Given the description of an element on the screen output the (x, y) to click on. 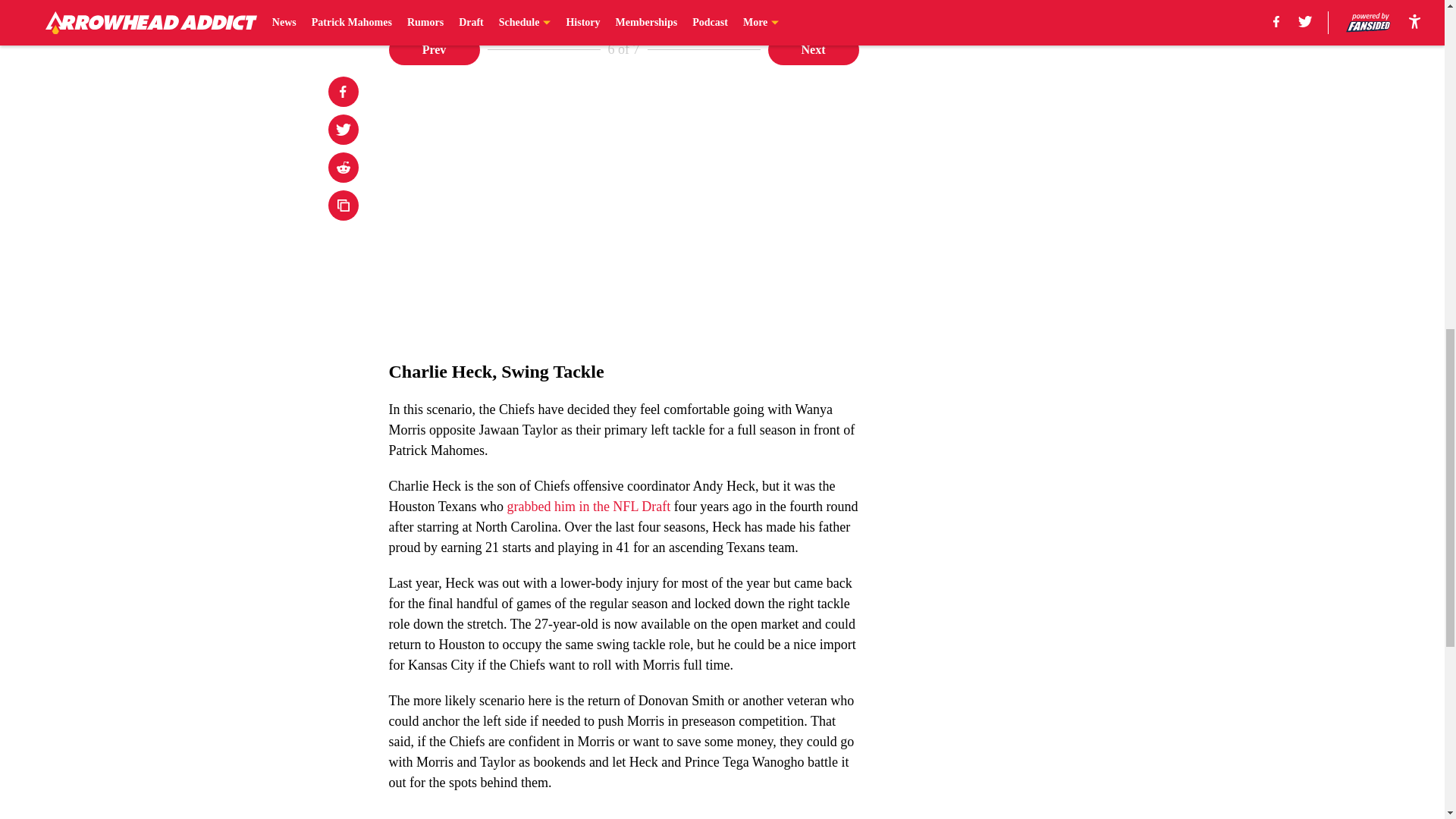
Prev (433, 50)
grabbed him in the NFL Draft (587, 506)
Next (813, 50)
